Given the description of an element on the screen output the (x, y) to click on. 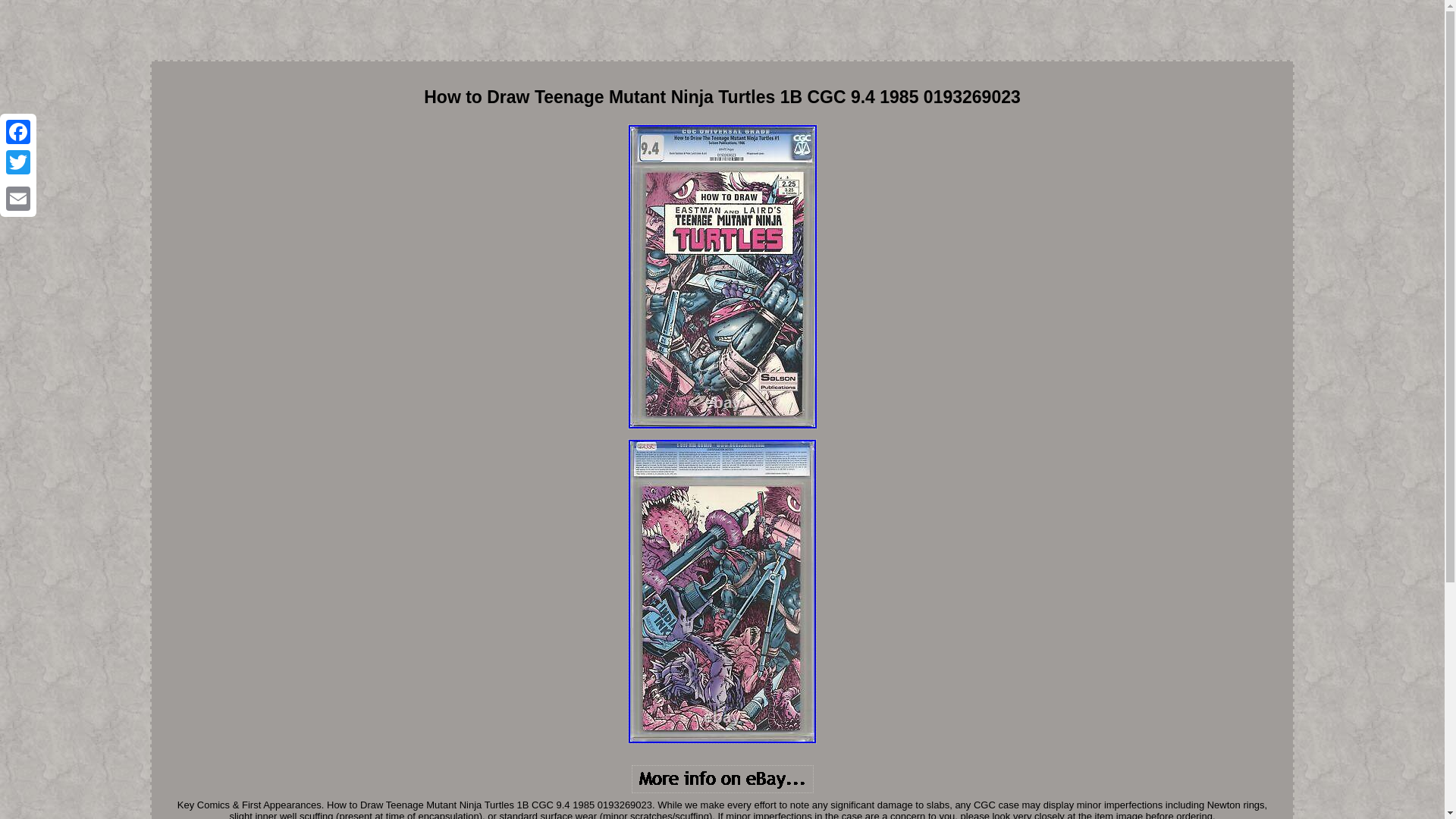
Facebook (17, 132)
Twitter (17, 162)
Email (17, 198)
